Given the description of an element on the screen output the (x, y) to click on. 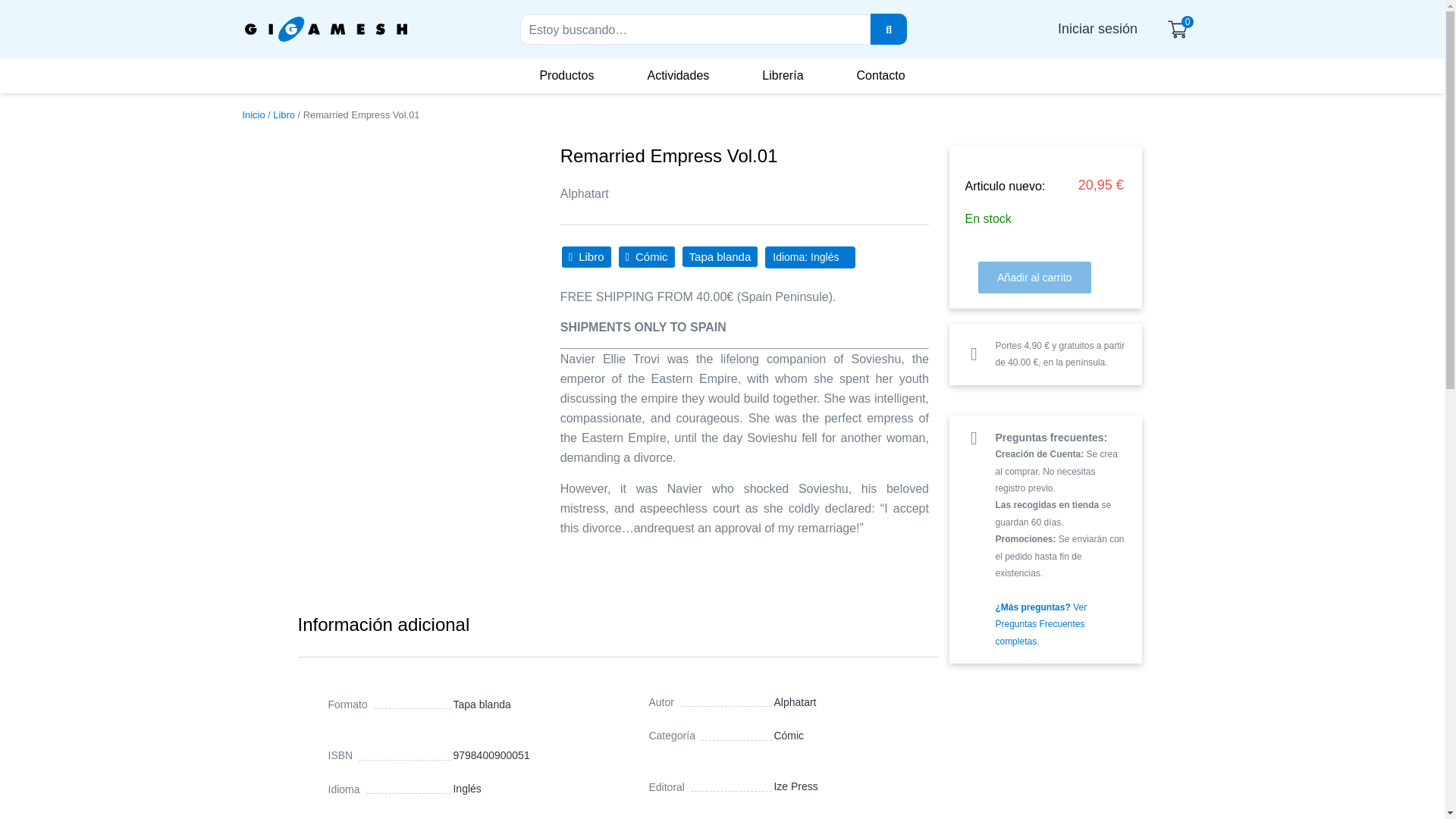
Libro (586, 256)
Productos (566, 75)
View your shopping cart (1180, 29)
Contacto (880, 75)
0 (1180, 29)
Inicio (253, 114)
Actividades (677, 75)
Libro (284, 114)
